Given the description of an element on the screen output the (x, y) to click on. 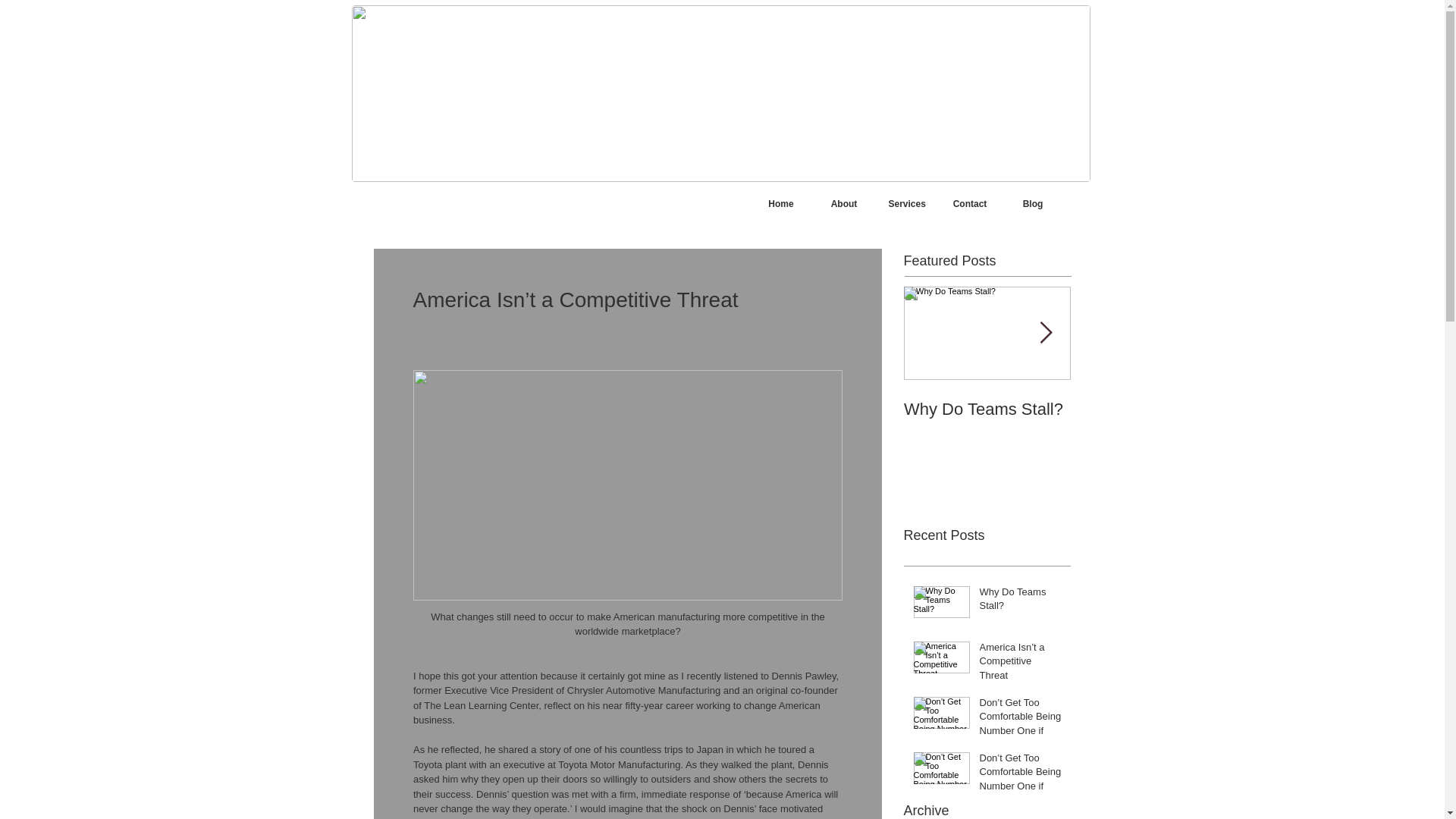
About (844, 204)
Blog (1032, 204)
Home (780, 204)
Contact (970, 204)
Why Do Teams Stall? (987, 409)
Why Do Teams Stall? (1020, 602)
Services (906, 204)
